Given the description of an element on the screen output the (x, y) to click on. 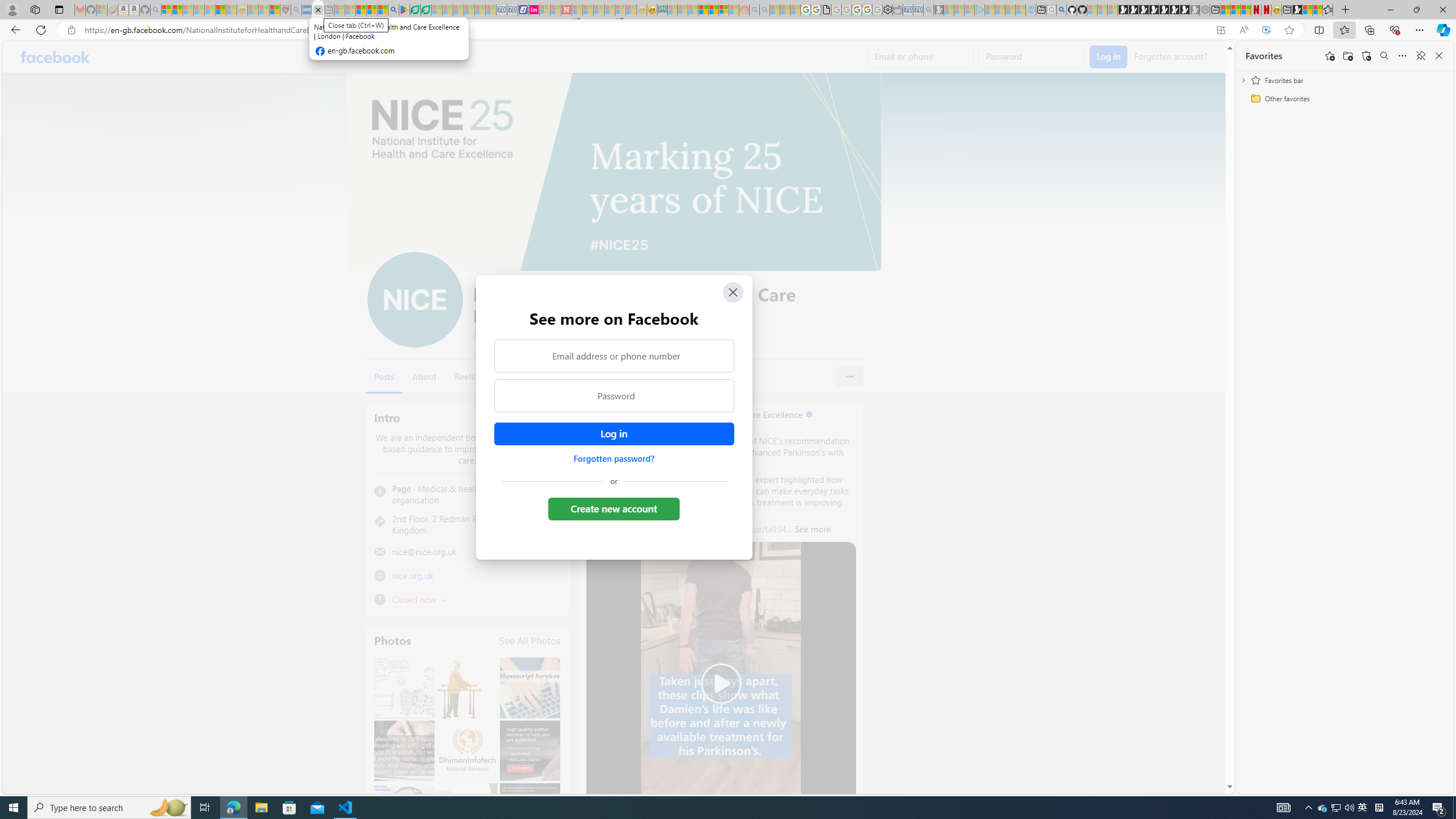
Search favorites (1383, 55)
Create new account (613, 508)
Facebook (55, 56)
Password (613, 395)
